Given the description of an element on the screen output the (x, y) to click on. 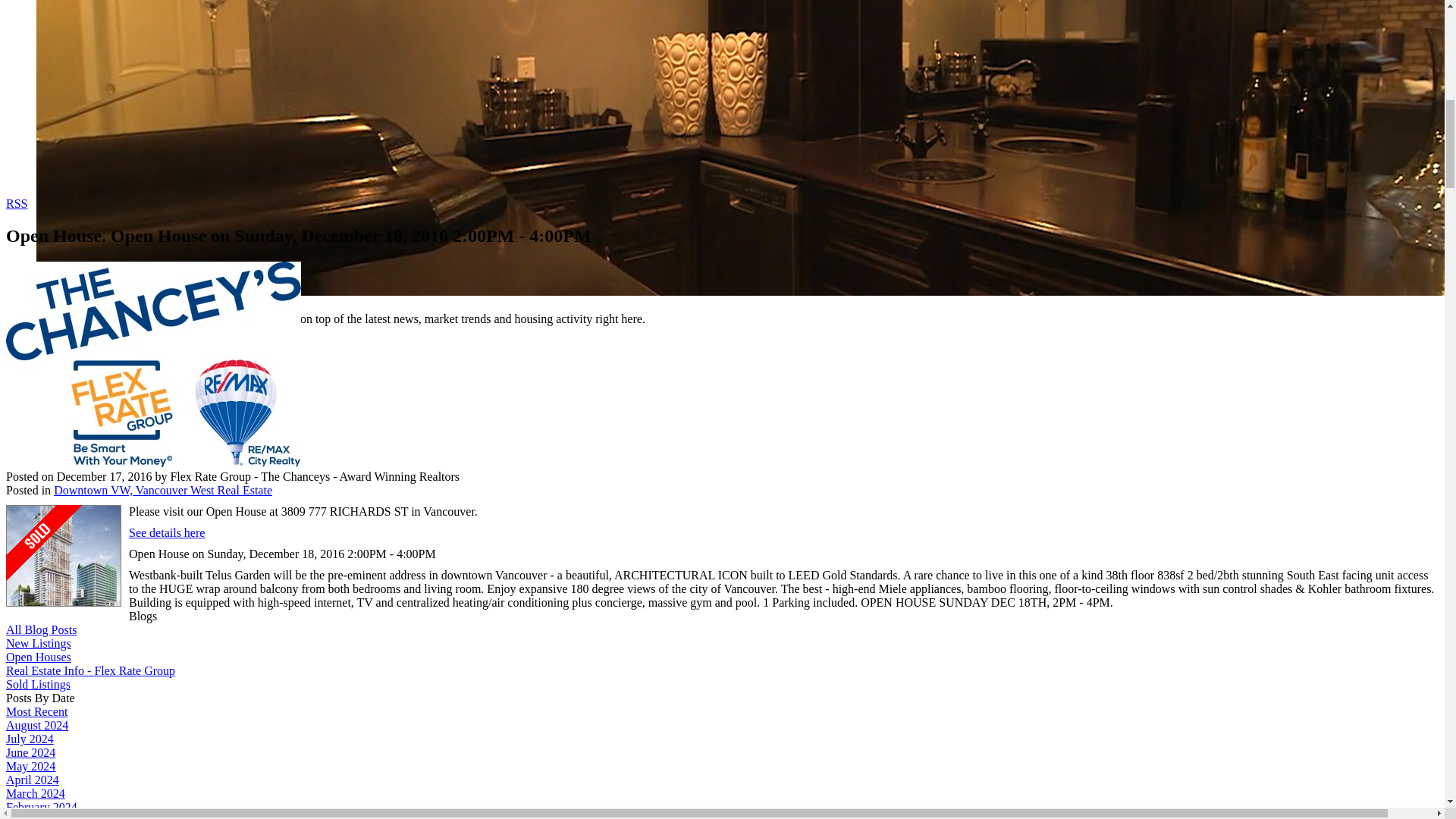
April 2024 (32, 779)
Real Estate Info - Flex Rate Group (89, 670)
Open Houses (38, 656)
May 2024 (30, 766)
All Blog Posts (41, 629)
July 2024 (29, 738)
RSS (16, 203)
February 2024 (41, 807)
August 2024 (36, 725)
New Listings (38, 643)
